Given the description of an element on the screen output the (x, y) to click on. 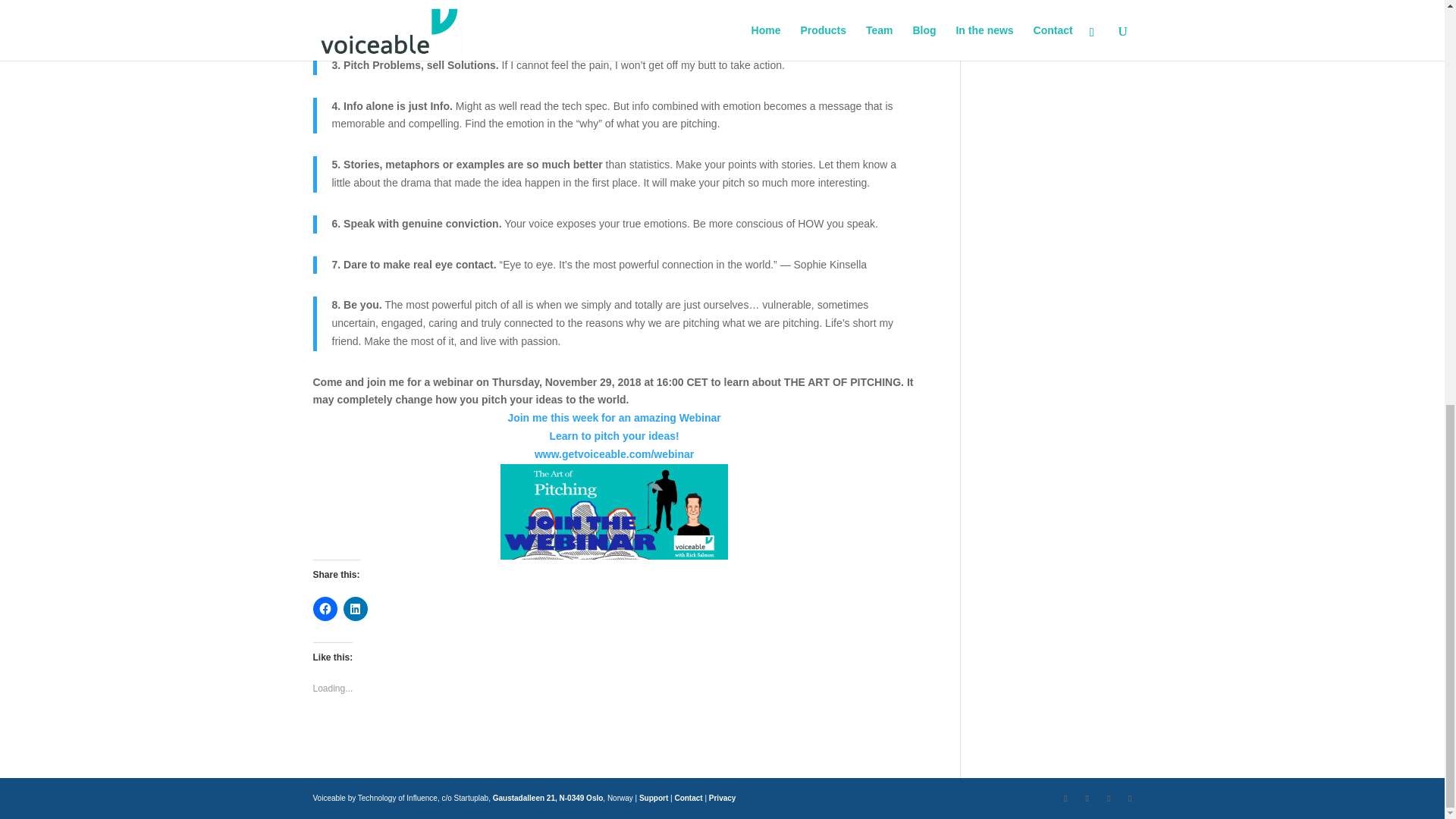
Learn to pitch your ideas! (613, 435)
Click to share on LinkedIn (354, 608)
Click to share on Facebook (324, 608)
Privacy (722, 797)
Contact (687, 797)
Gaustadalleen 21, N-0349 Oslo (548, 797)
Join me this week for an amazing Webinar (613, 417)
Support (653, 797)
